Given the description of an element on the screen output the (x, y) to click on. 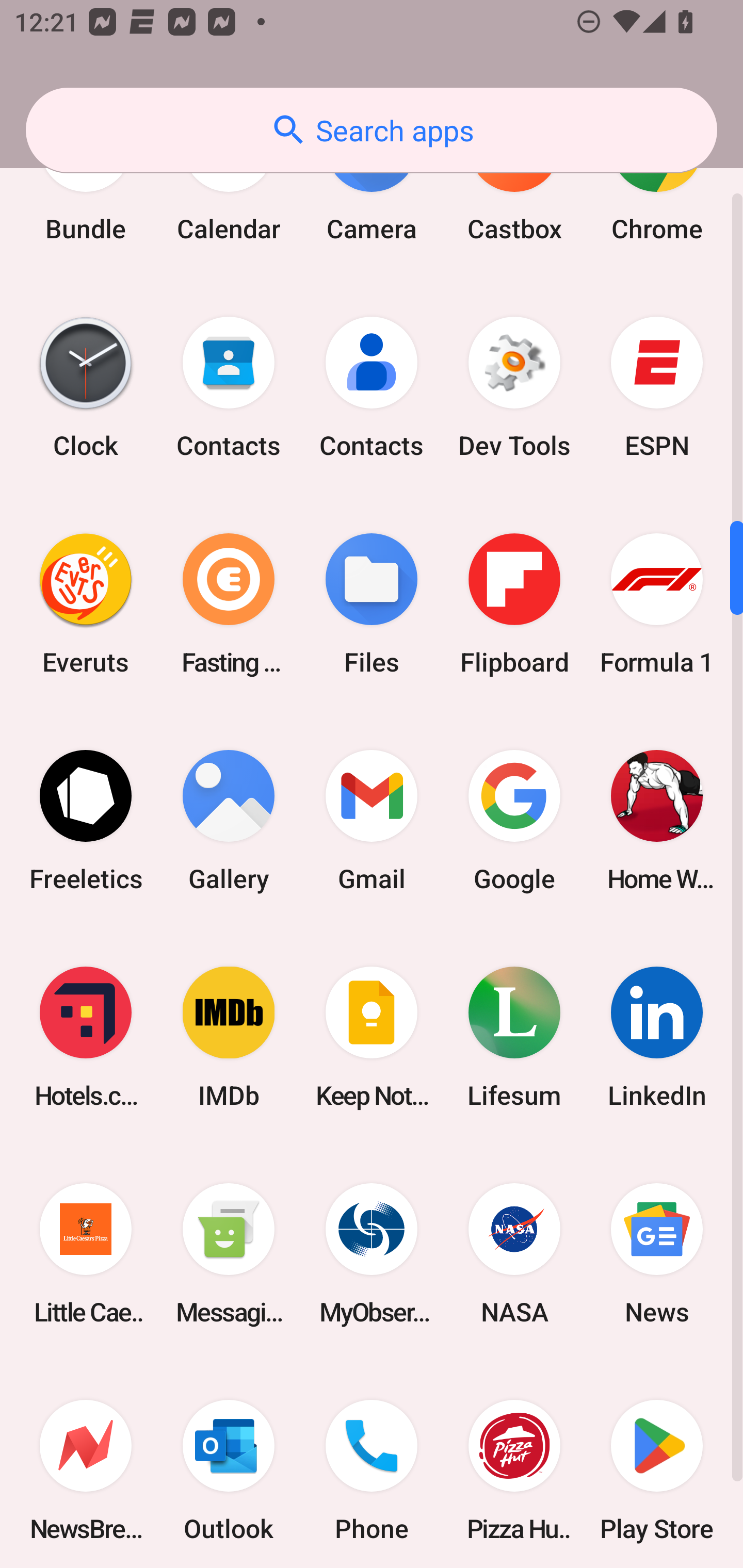
  Search apps (371, 130)
Clock (85, 387)
Contacts (228, 387)
Contacts (371, 387)
Dev Tools (514, 387)
ESPN (656, 387)
Everuts (85, 603)
Fasting Coach (228, 603)
Files (371, 603)
Flipboard (514, 603)
Formula 1 (656, 603)
Freeletics (85, 819)
Gallery (228, 819)
Gmail (371, 819)
Google (514, 819)
Home Workout (656, 819)
Hotels.com (85, 1037)
IMDb (228, 1037)
Keep Notes (371, 1037)
Lifesum (514, 1037)
LinkedIn (656, 1037)
Little Caesars Pizza (85, 1254)
Messaging (228, 1254)
MyObservatory (371, 1254)
NASA (514, 1254)
News (656, 1254)
NewsBreak (85, 1465)
Outlook (228, 1465)
Phone (371, 1465)
Pizza Hut HK & Macau (514, 1465)
Play Store (656, 1465)
